Given the description of an element on the screen output the (x, y) to click on. 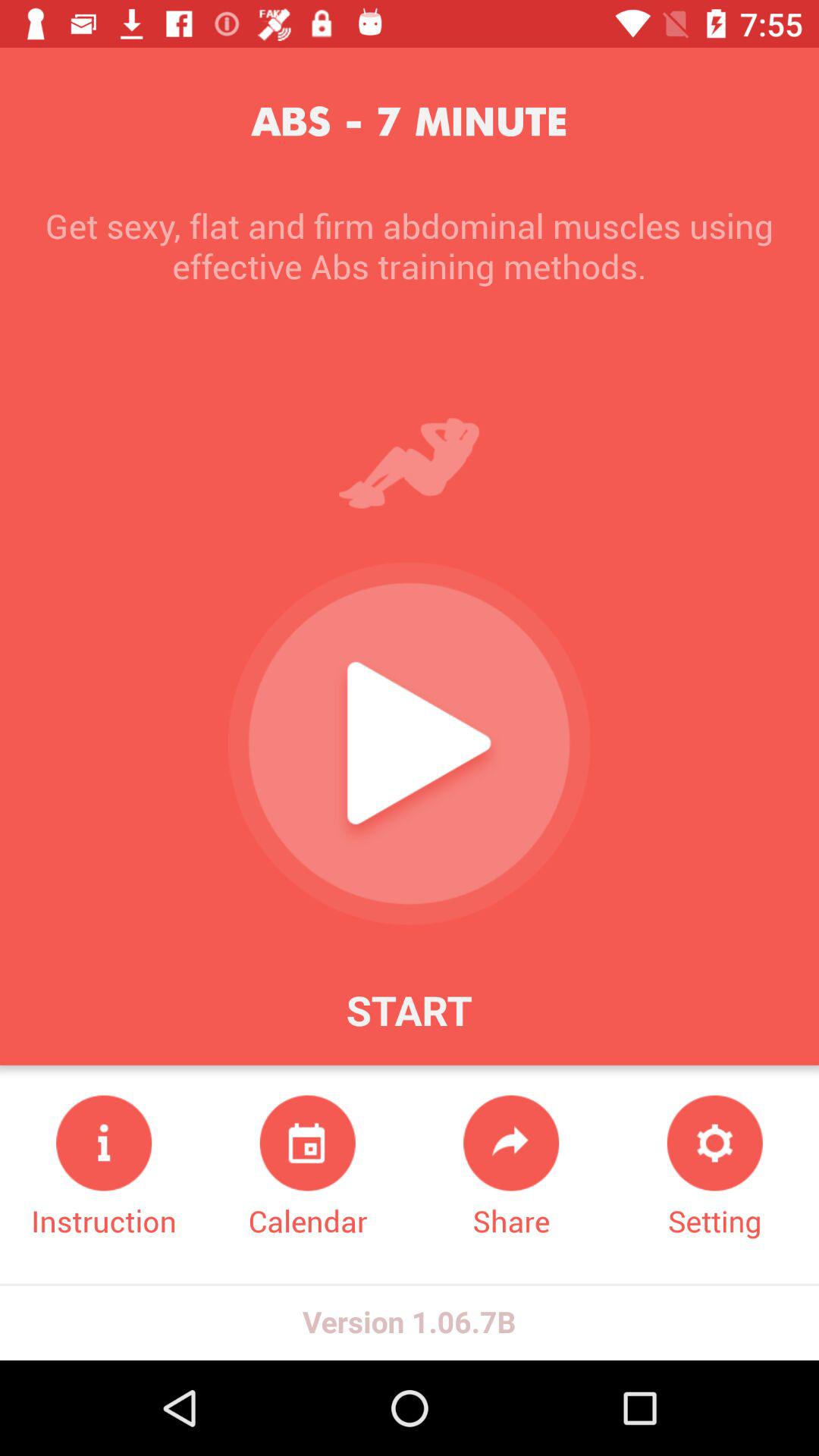
start session (409, 743)
